Given the description of an element on the screen output the (x, y) to click on. 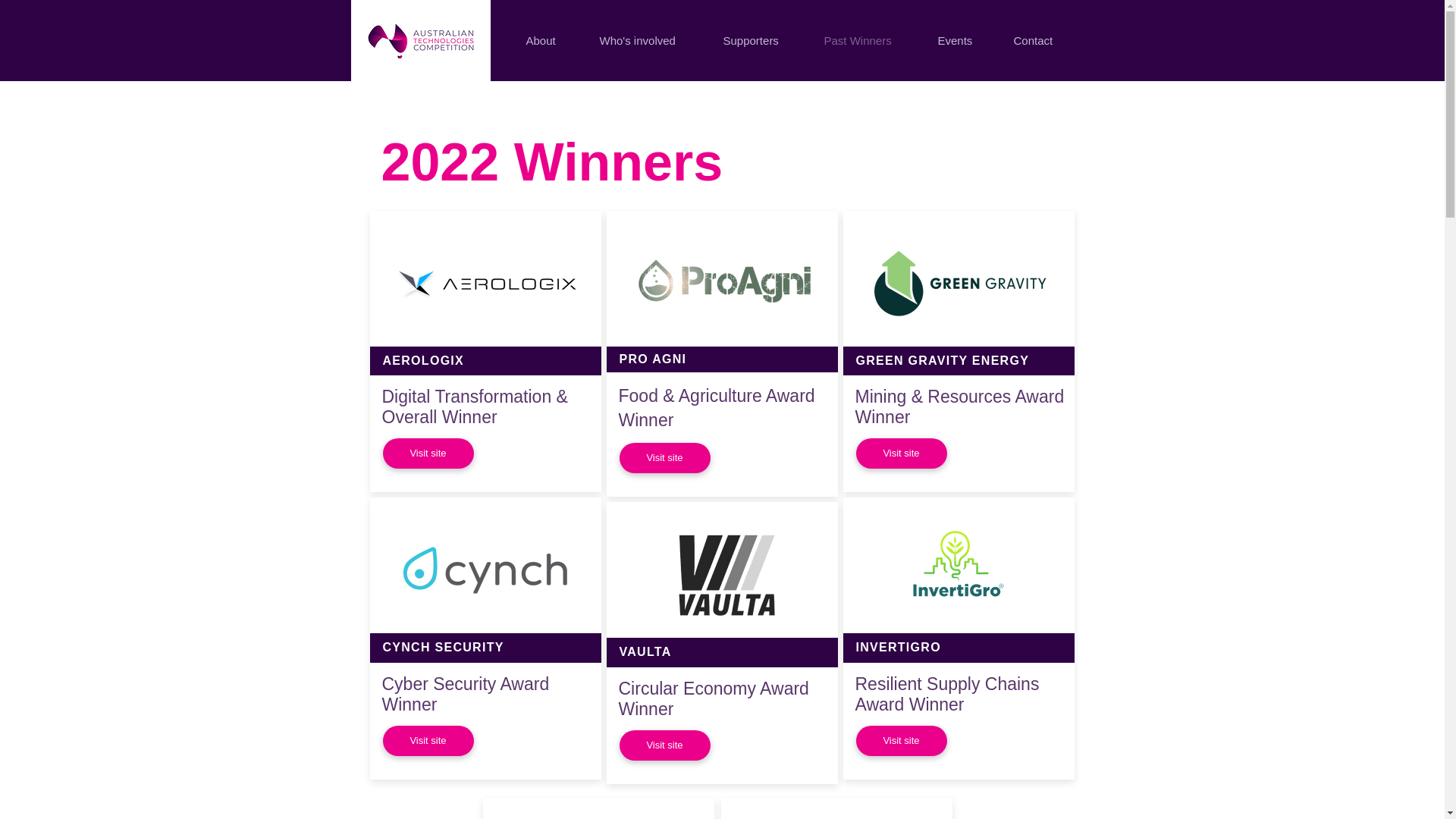
About (549, 40)
Visit site (664, 745)
Contact (1042, 40)
Visit site (664, 458)
Visit site (901, 740)
Visit site (427, 740)
Visit site (427, 453)
Past Winners (867, 40)
Visit site (901, 453)
